Given the description of an element on the screen output the (x, y) to click on. 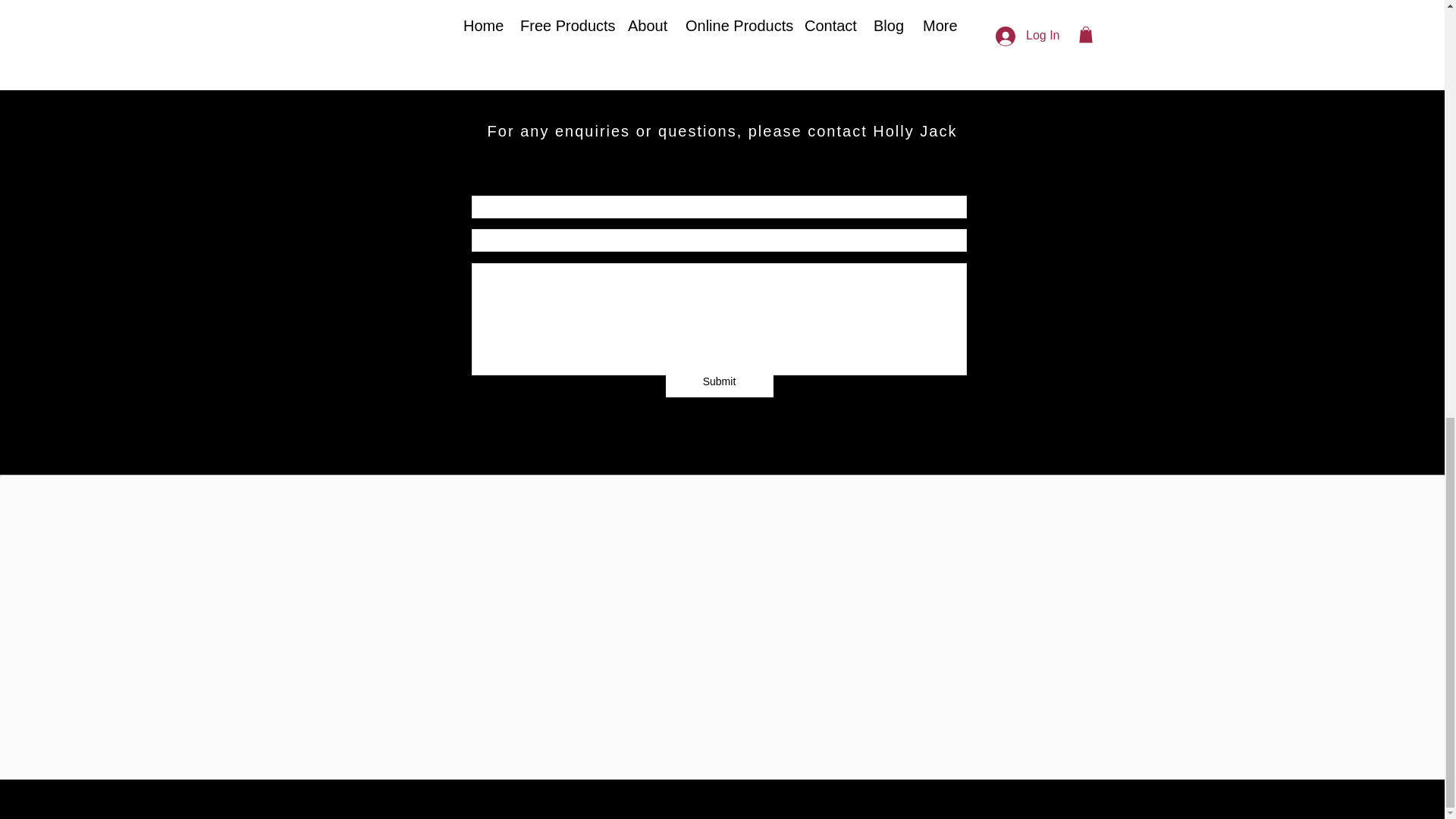
Store Policy    (719, 667)
Submit (719, 381)
FAQ  (487, 667)
Wix.com (856, 747)
Payment Methods  (918, 667)
